Given the description of an element on the screen output the (x, y) to click on. 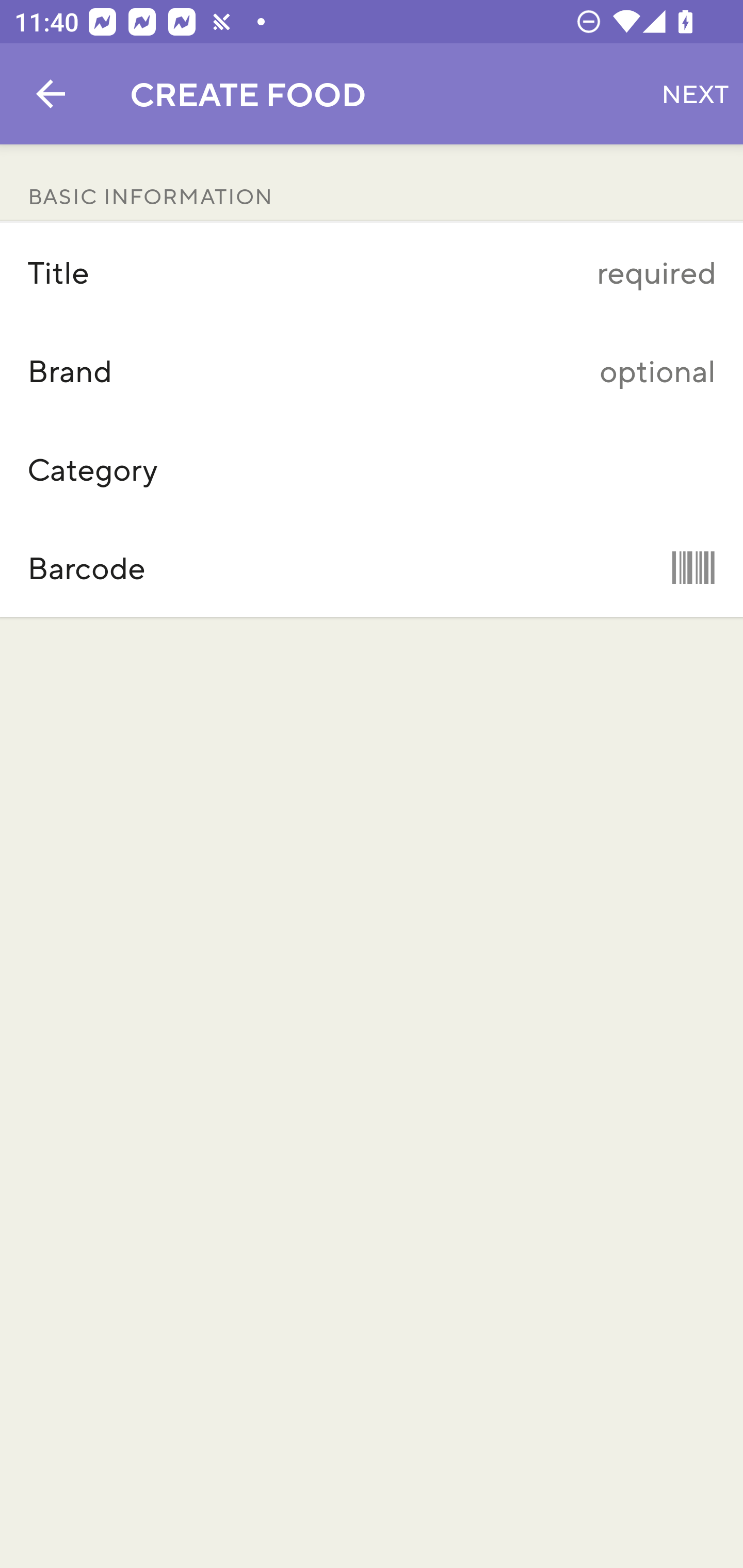
Navigate up (50, 93)
NEXT (695, 93)
required (474, 271)
optional (474, 370)
Category (371, 469)
Barcode (371, 567)
